Given the description of an element on the screen output the (x, y) to click on. 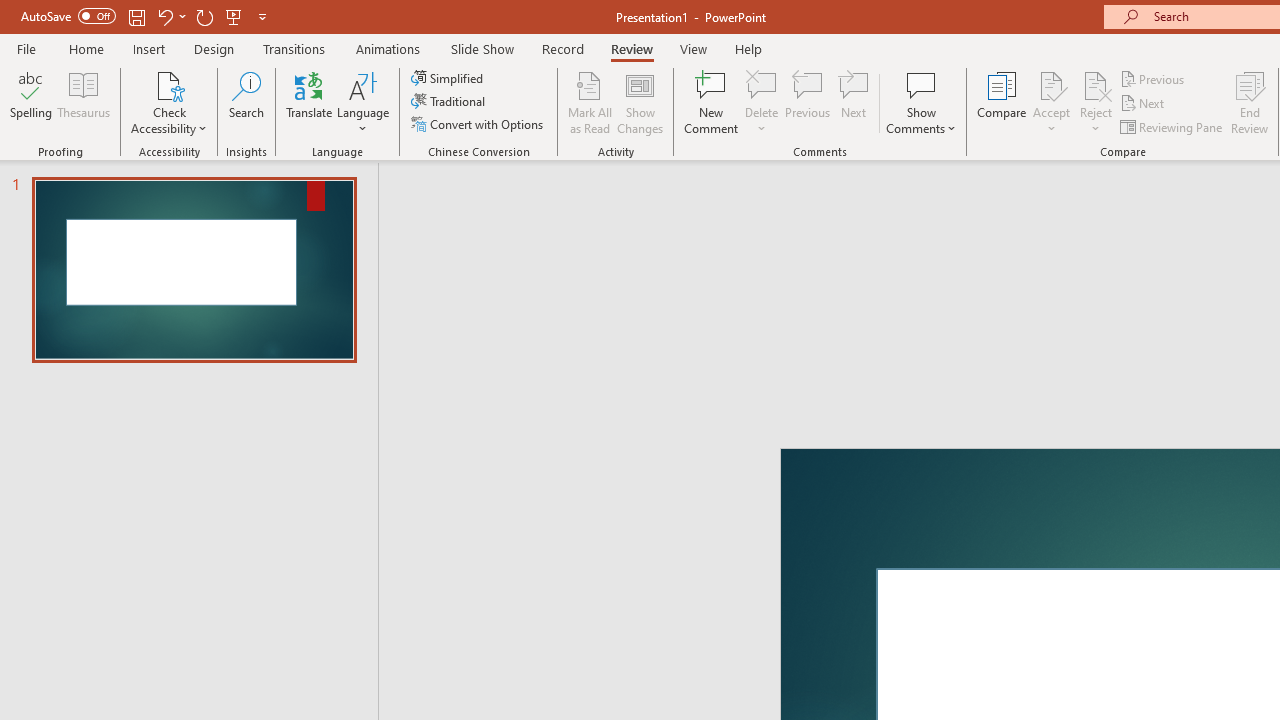
Reviewing Pane (1172, 126)
Accept (1051, 102)
Convert with Options... (479, 124)
Previous (1153, 78)
Reject Change (1096, 84)
